Given the description of an element on the screen output the (x, y) to click on. 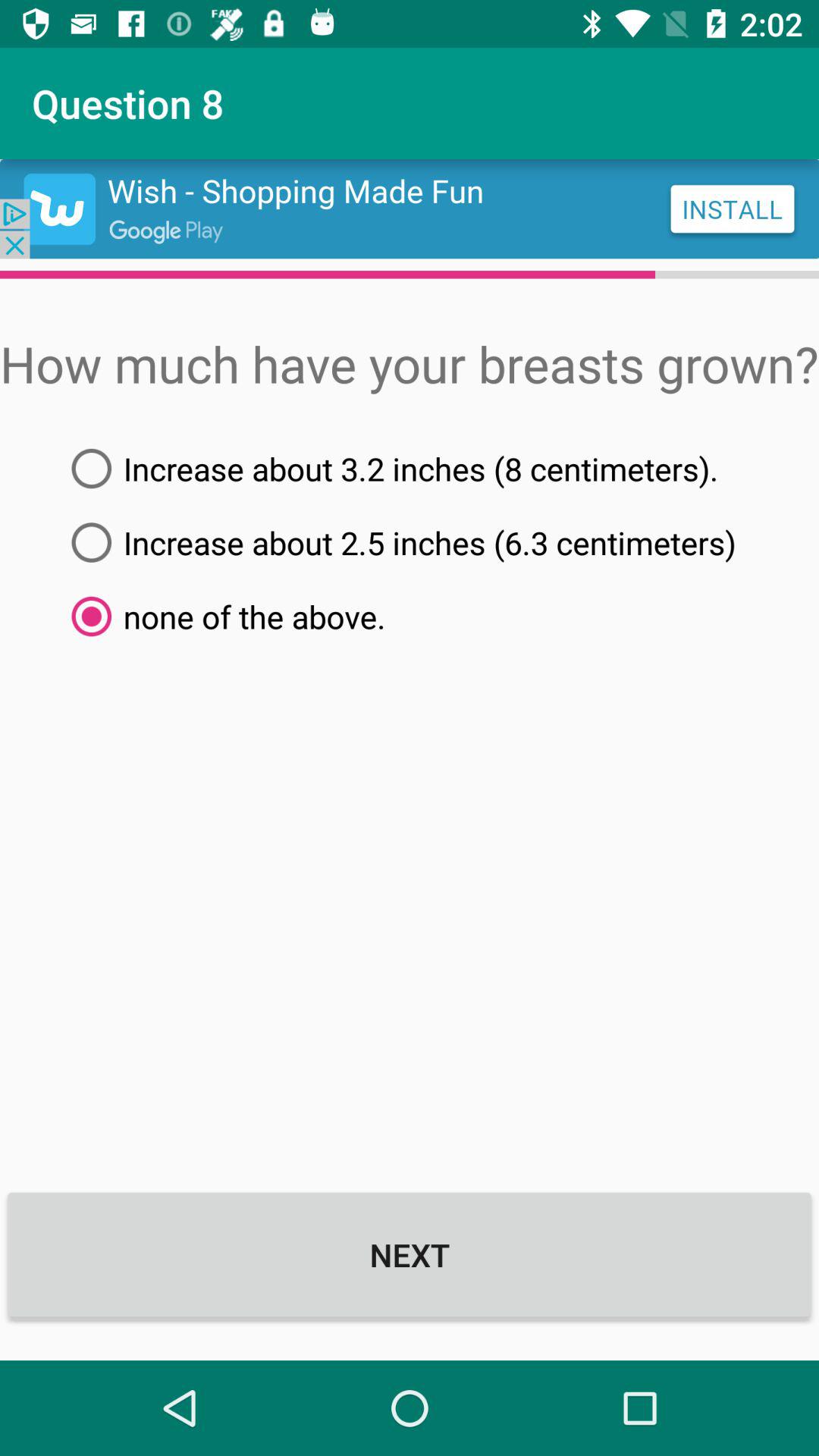
banner advertisement (409, 208)
